Given the description of an element on the screen output the (x, y) to click on. 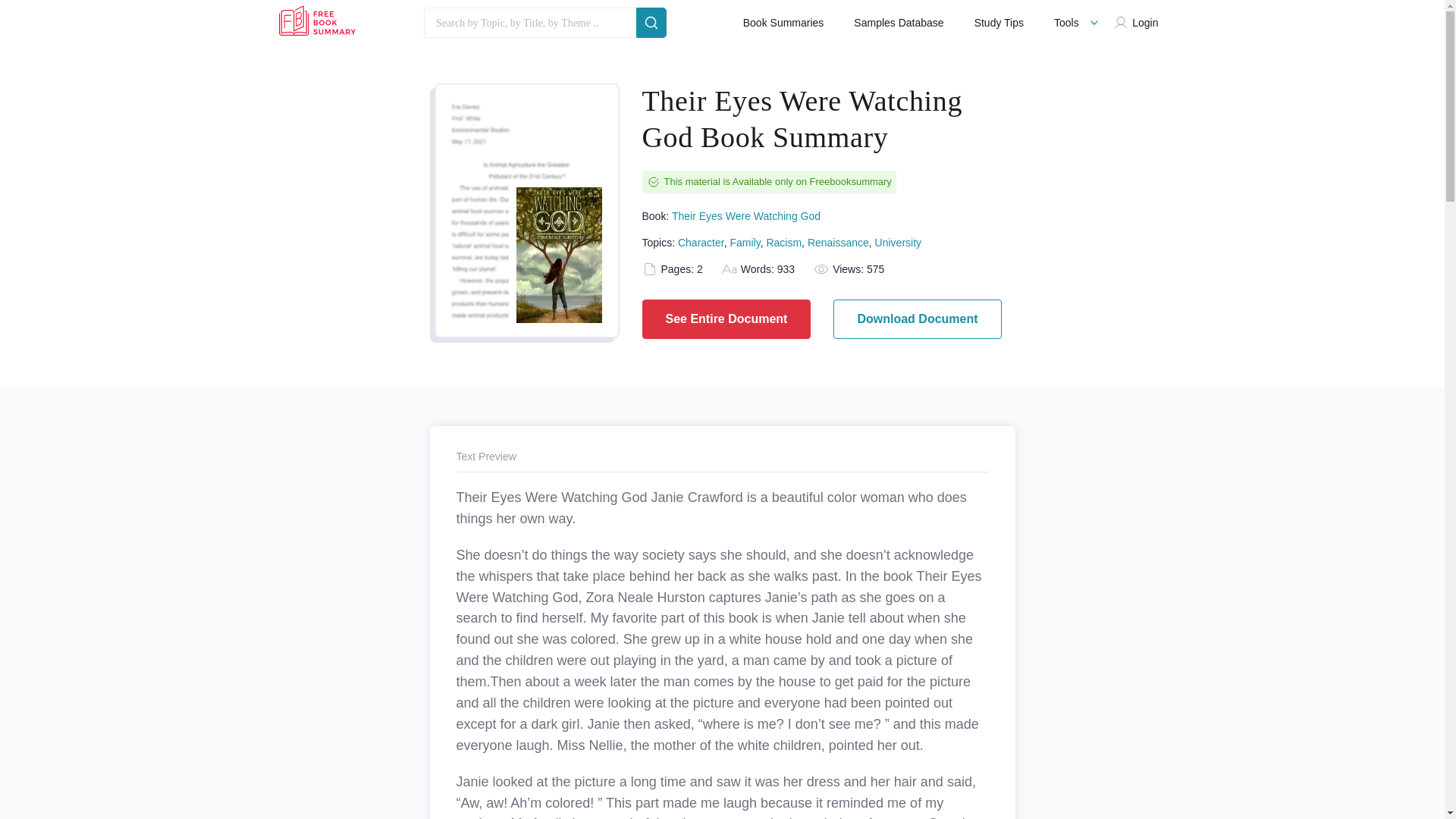
Renaissance (838, 242)
University (898, 242)
Their Eyes Were Watching God (746, 215)
Character (700, 242)
Login (1139, 22)
Book Summaries (783, 22)
Study Tips (998, 22)
Racism (783, 242)
Samples Database (897, 22)
Family (744, 242)
